Given the description of an element on the screen output the (x, y) to click on. 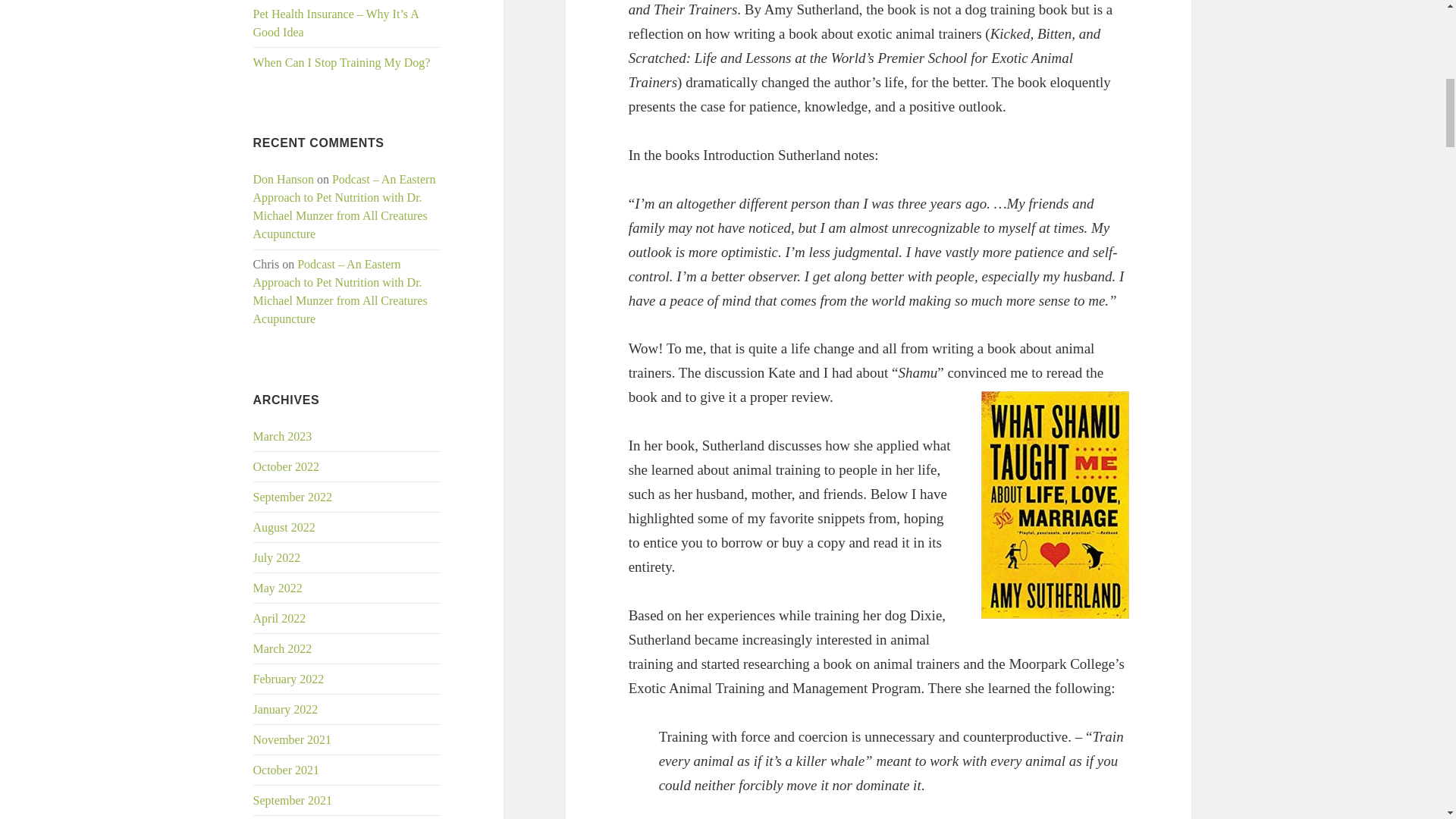
May 2022 (277, 587)
March 2023 (283, 436)
July 2022 (277, 557)
March 2022 (283, 648)
October 2021 (286, 769)
October 2022 (286, 466)
November 2021 (292, 739)
February 2022 (288, 678)
September 2021 (292, 799)
Don Hanson (283, 178)
